Given the description of an element on the screen output the (x, y) to click on. 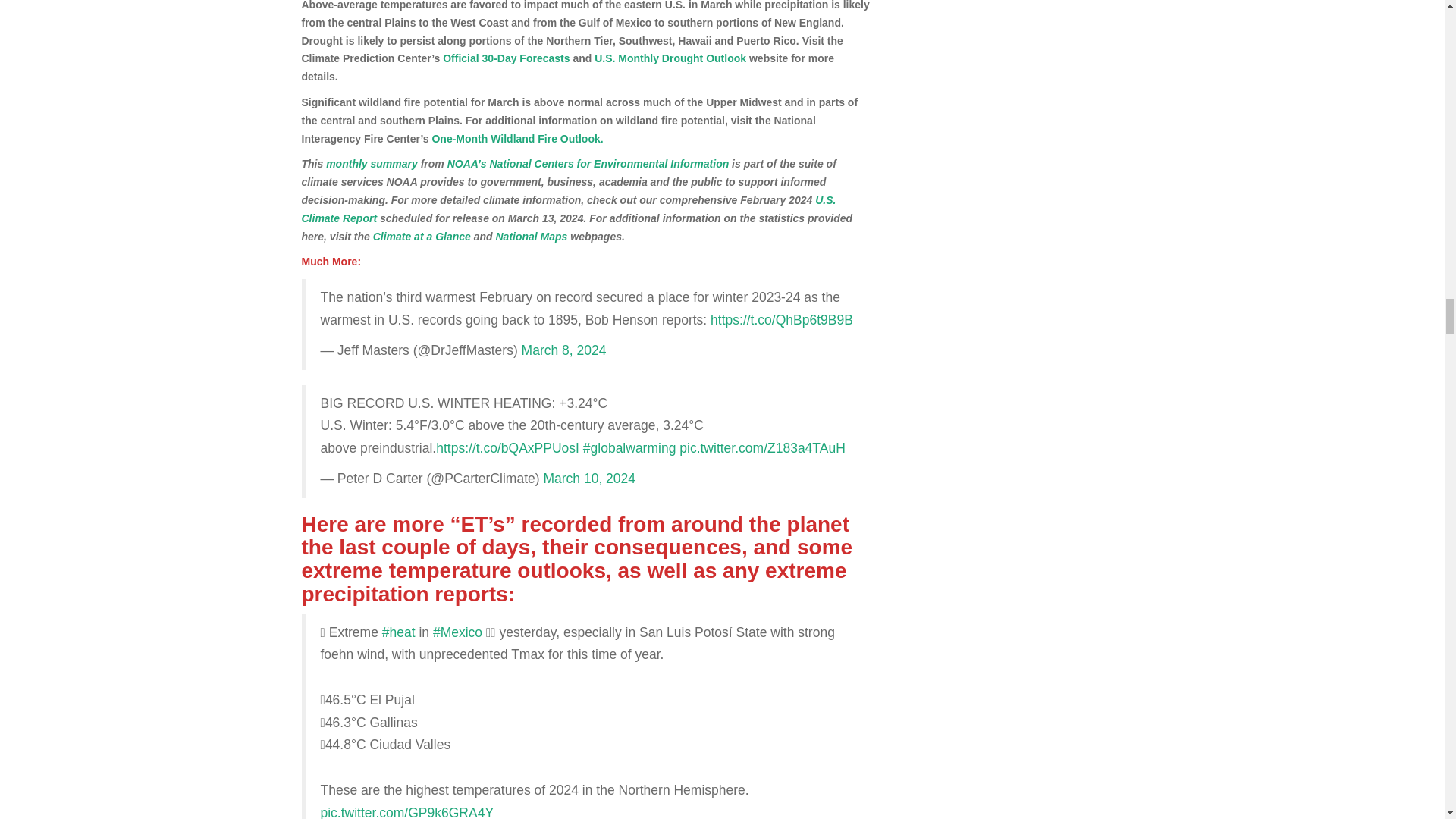
March 10, 2024 (588, 478)
U.S. Climate Report (568, 209)
Climate at a Glance (421, 236)
National Maps (531, 236)
Official 30-Day Forecasts (505, 58)
One-Month Wildland Fire Outlook. (516, 138)
monthly summary (371, 163)
March 8, 2024 (564, 350)
U.S. Monthly Drought Outlook (669, 58)
